Given the description of an element on the screen output the (x, y) to click on. 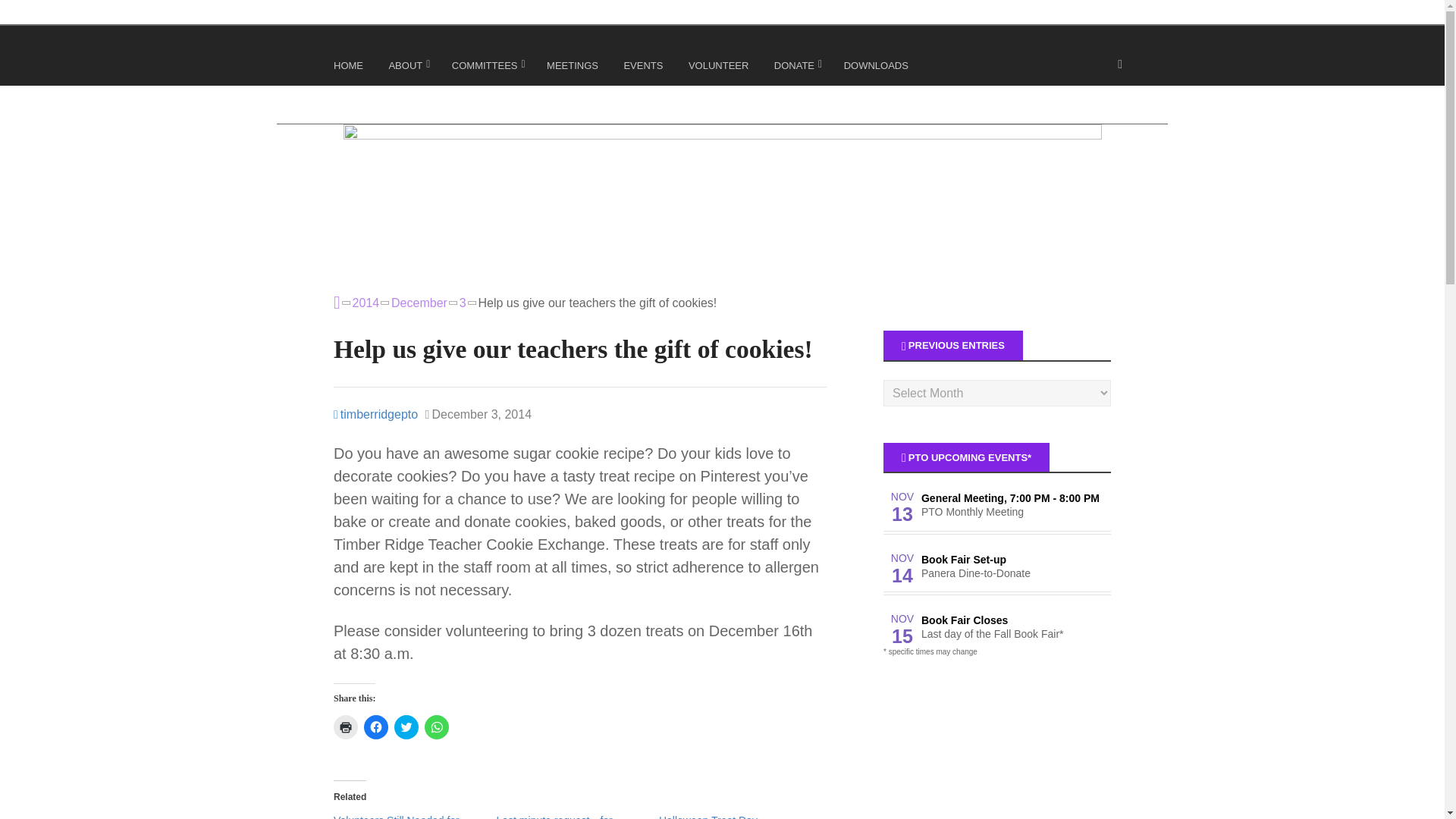
Click to share on WhatsApp (436, 726)
VOLUNTEER (720, 68)
Volunteers Still Needed for Cookie Exchange (396, 816)
COMMITTEES (488, 68)
Click to share on Facebook (376, 726)
Click to print (345, 726)
Wednesday, December 3, 2014, 7:51 pm (478, 414)
Search (30, 15)
Halloween Treat Day (708, 816)
HOME (349, 68)
